Given the description of an element on the screen output the (x, y) to click on. 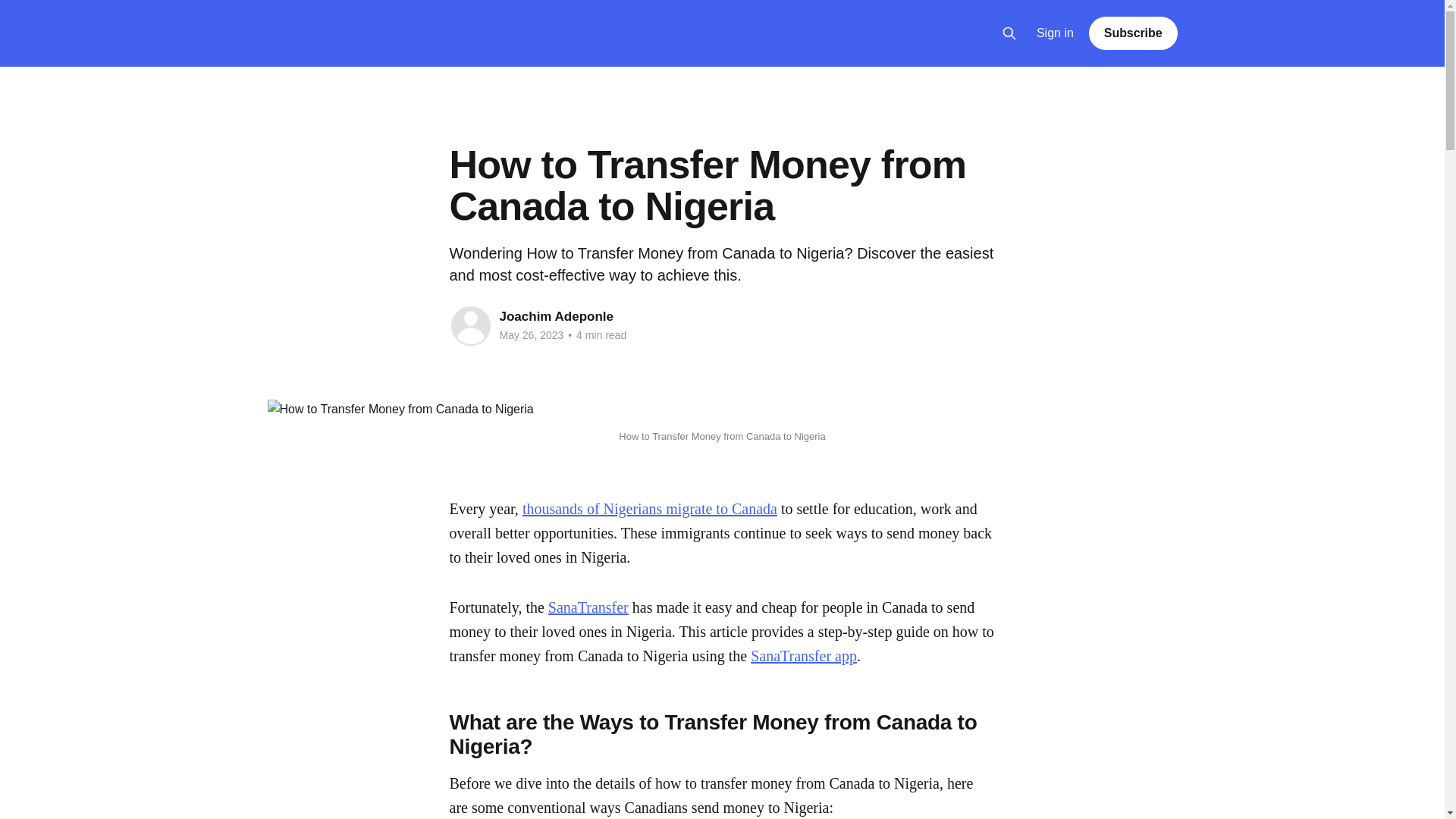
Sign in (1055, 33)
Joachim Adeponle (555, 316)
thousands of Nigerians migrate to Canada (649, 508)
Subscribe (1133, 32)
SanaTransfer app (804, 655)
SanaTransfer (588, 606)
